Given the description of an element on the screen output the (x, y) to click on. 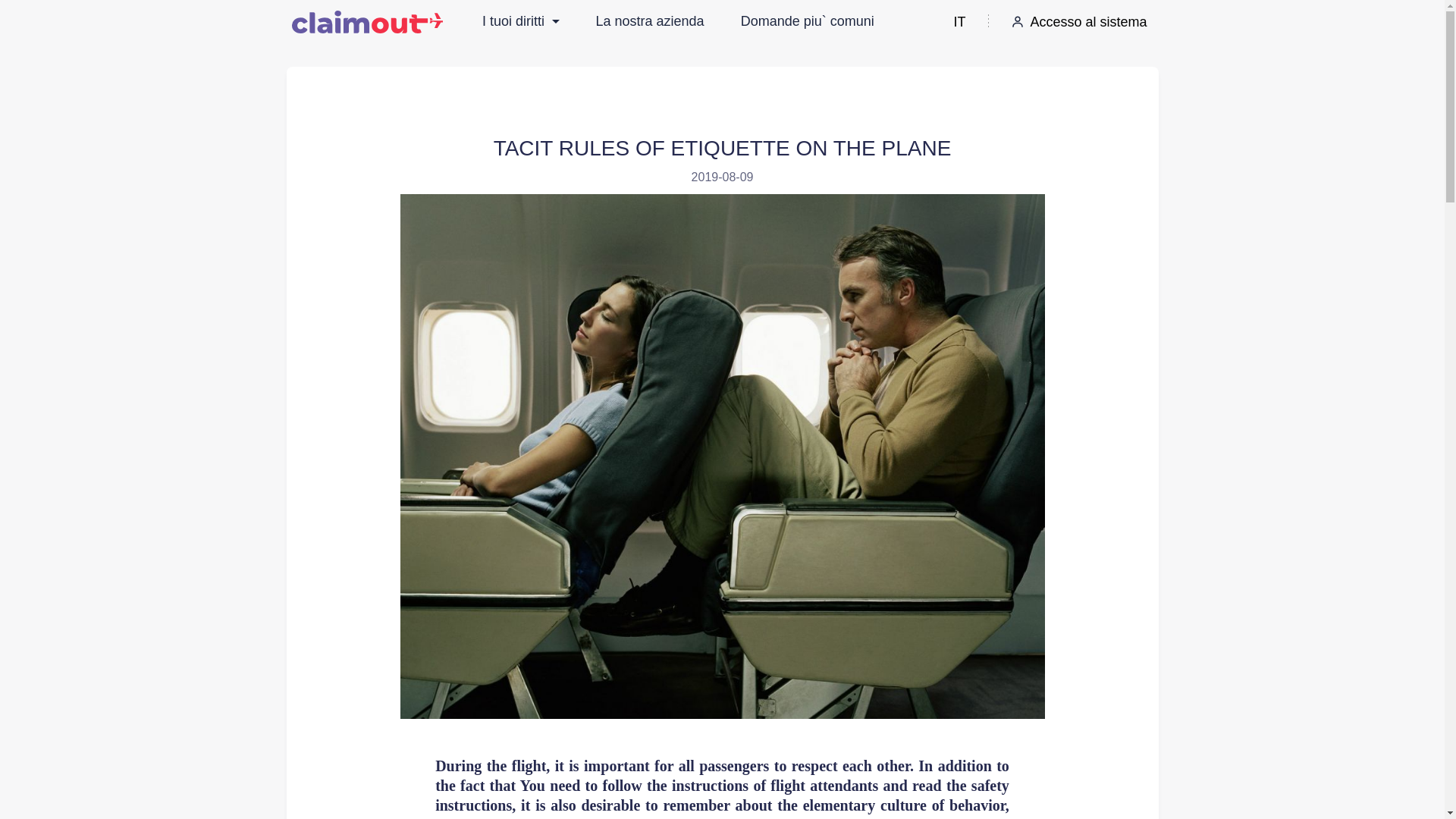
Accesso al sistema (1077, 21)
IT (959, 21)
I tuoi diritti (520, 20)
La nostra azienda (649, 20)
